Given the description of an element on the screen output the (x, y) to click on. 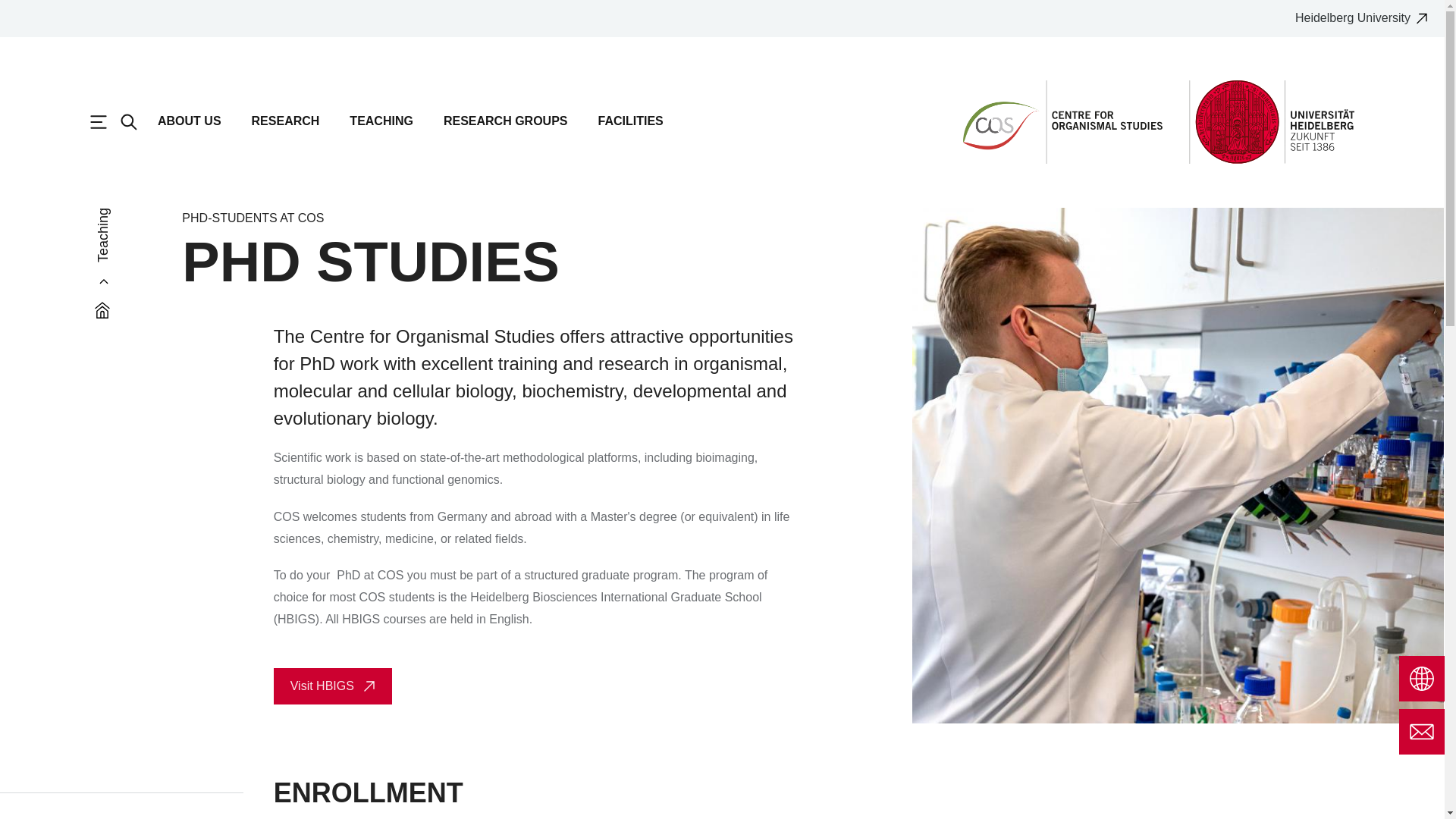
Heidelberg University (1366, 18)
TEACHING (381, 128)
Visit HBIGS (332, 686)
Teaching (122, 215)
RESEARCH (285, 128)
ABOUT US (189, 128)
RESEARCH GROUPS (505, 128)
FACILITIES (629, 128)
